Given the description of an element on the screen output the (x, y) to click on. 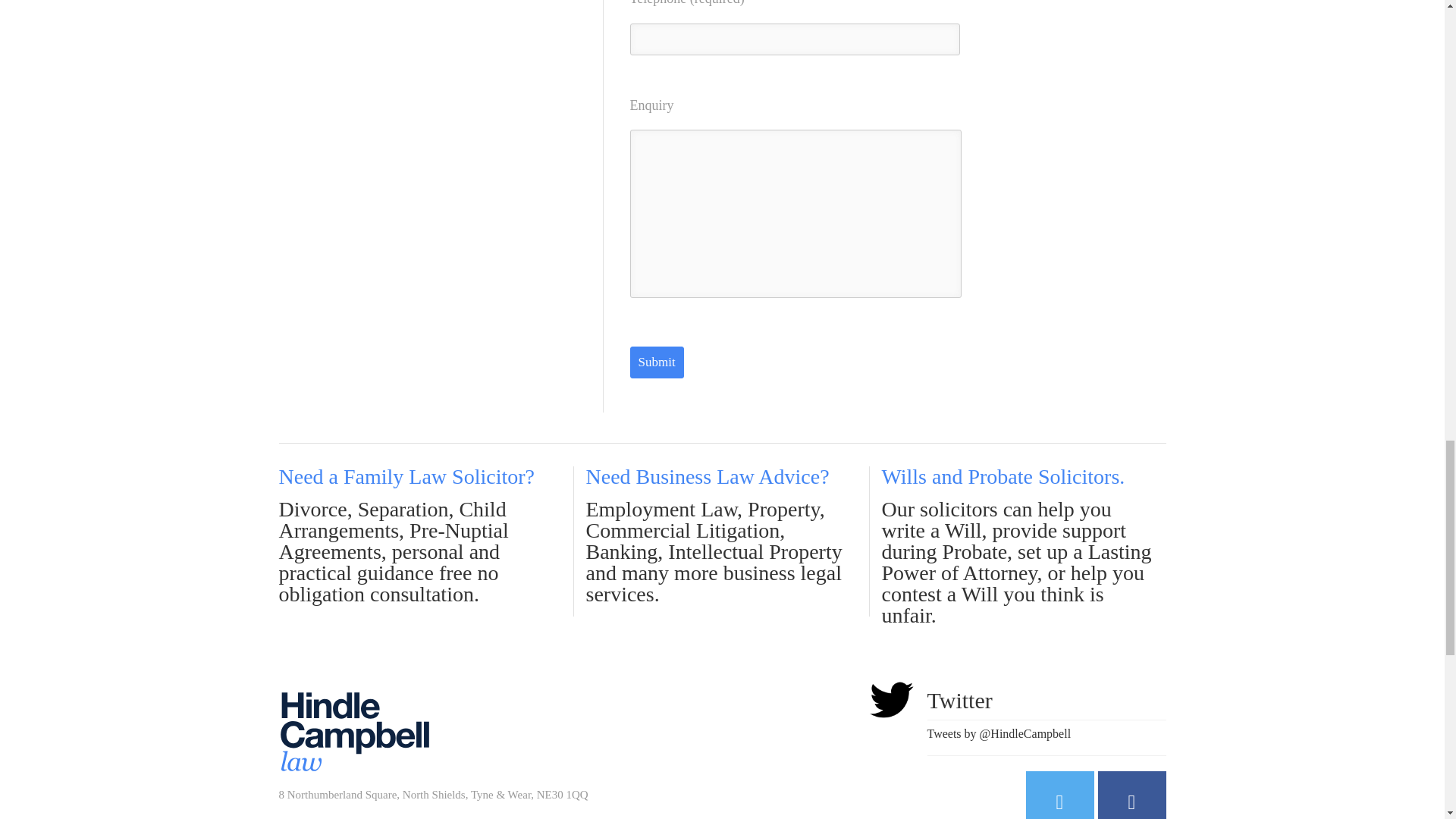
Submit (657, 362)
